Given the description of an element on the screen output the (x, y) to click on. 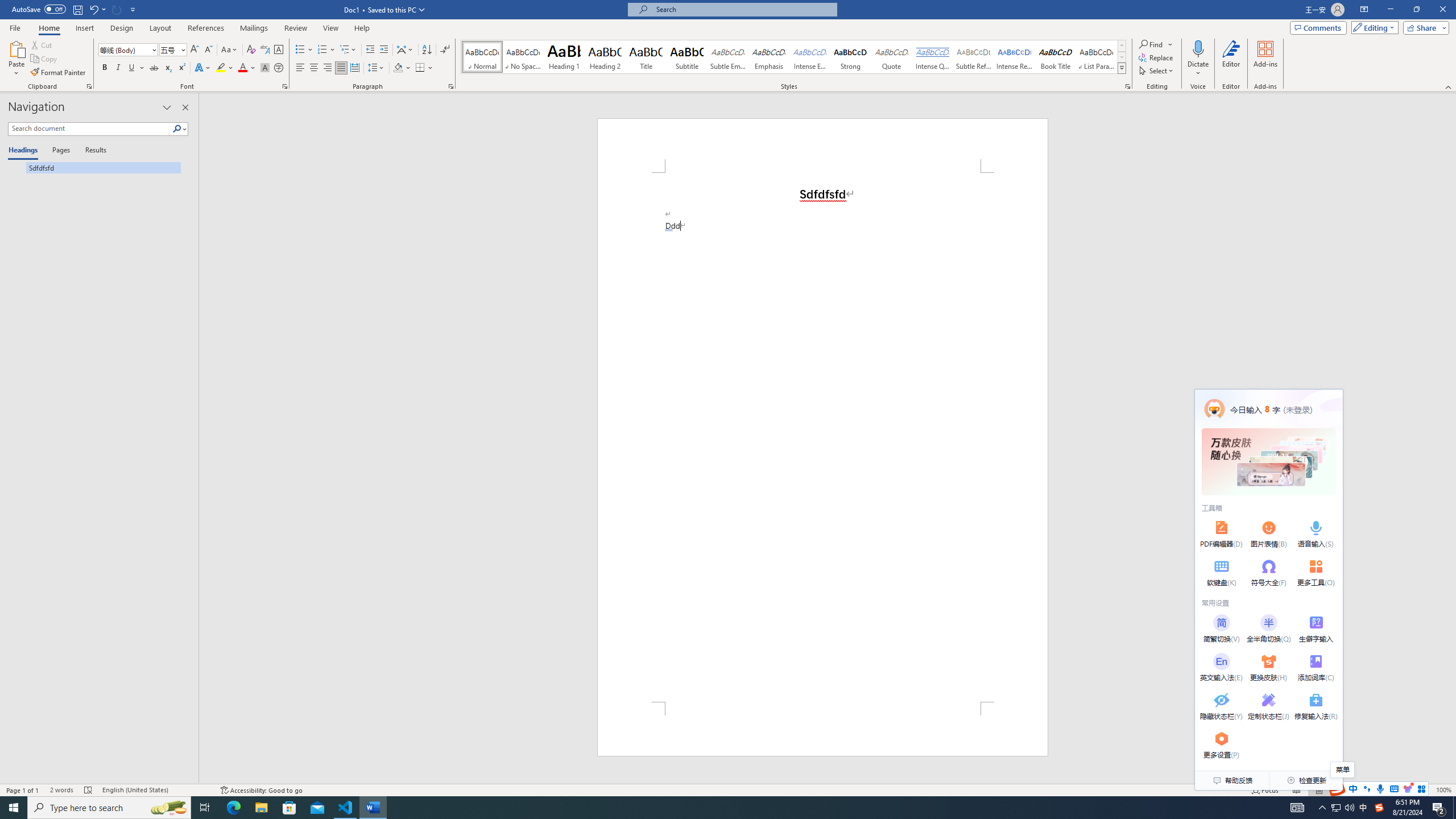
Subtle Reference (973, 56)
